Given the description of an element on the screen output the (x, y) to click on. 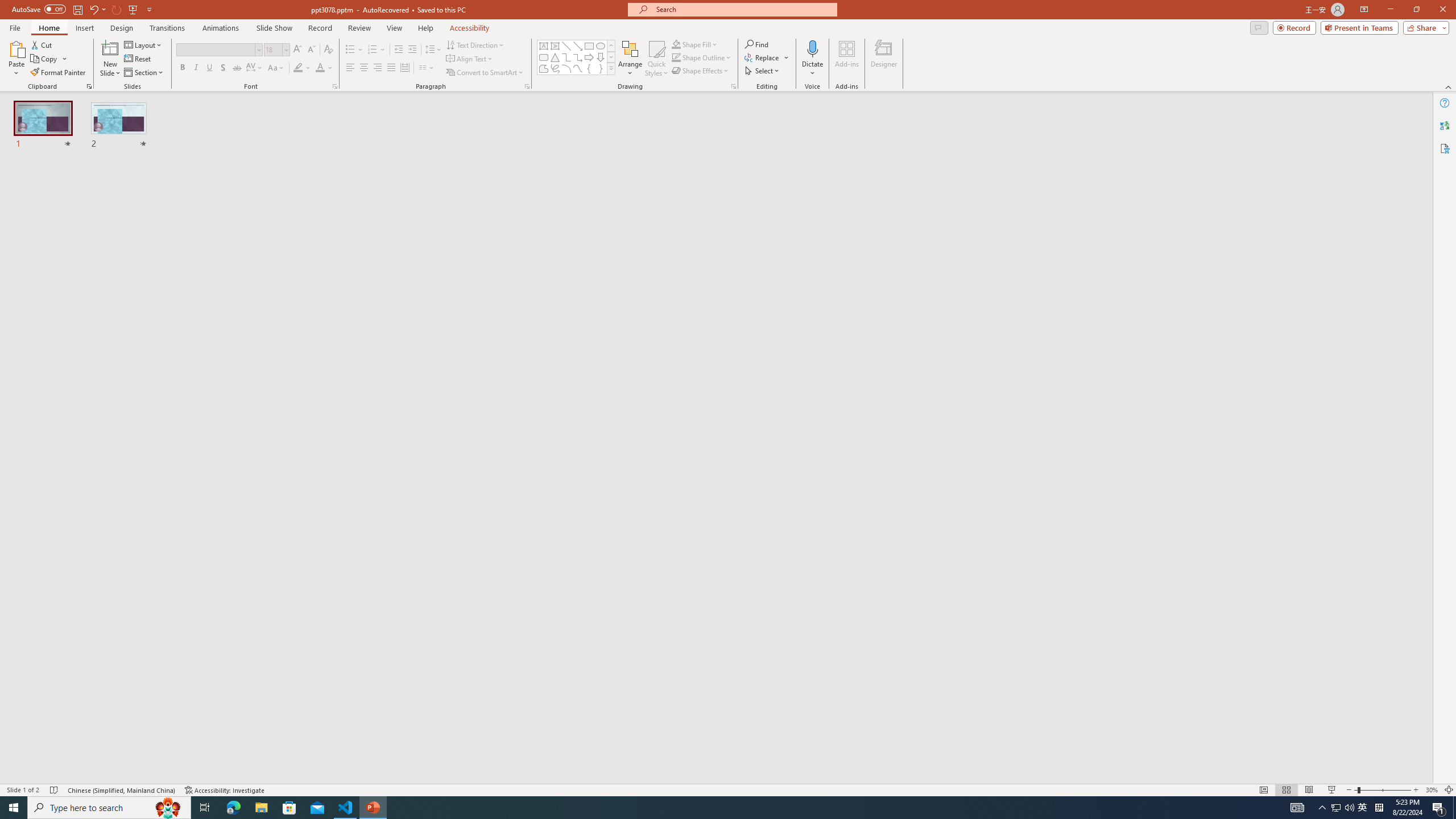
Connector: Elbow Arrow (577, 57)
Text Direction (476, 44)
